Given the description of an element on the screen output the (x, y) to click on. 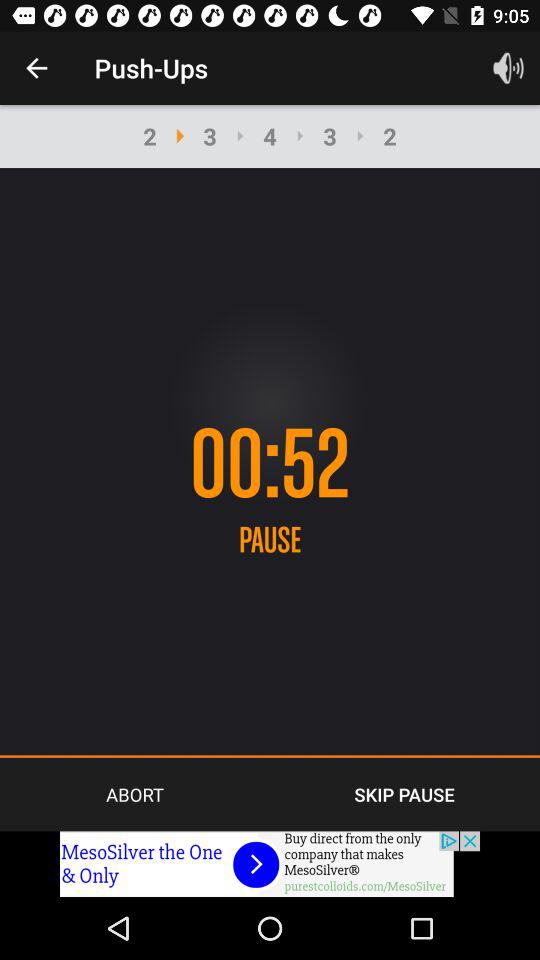
click the sound icon (508, 68)
